Given the description of an element on the screen output the (x, y) to click on. 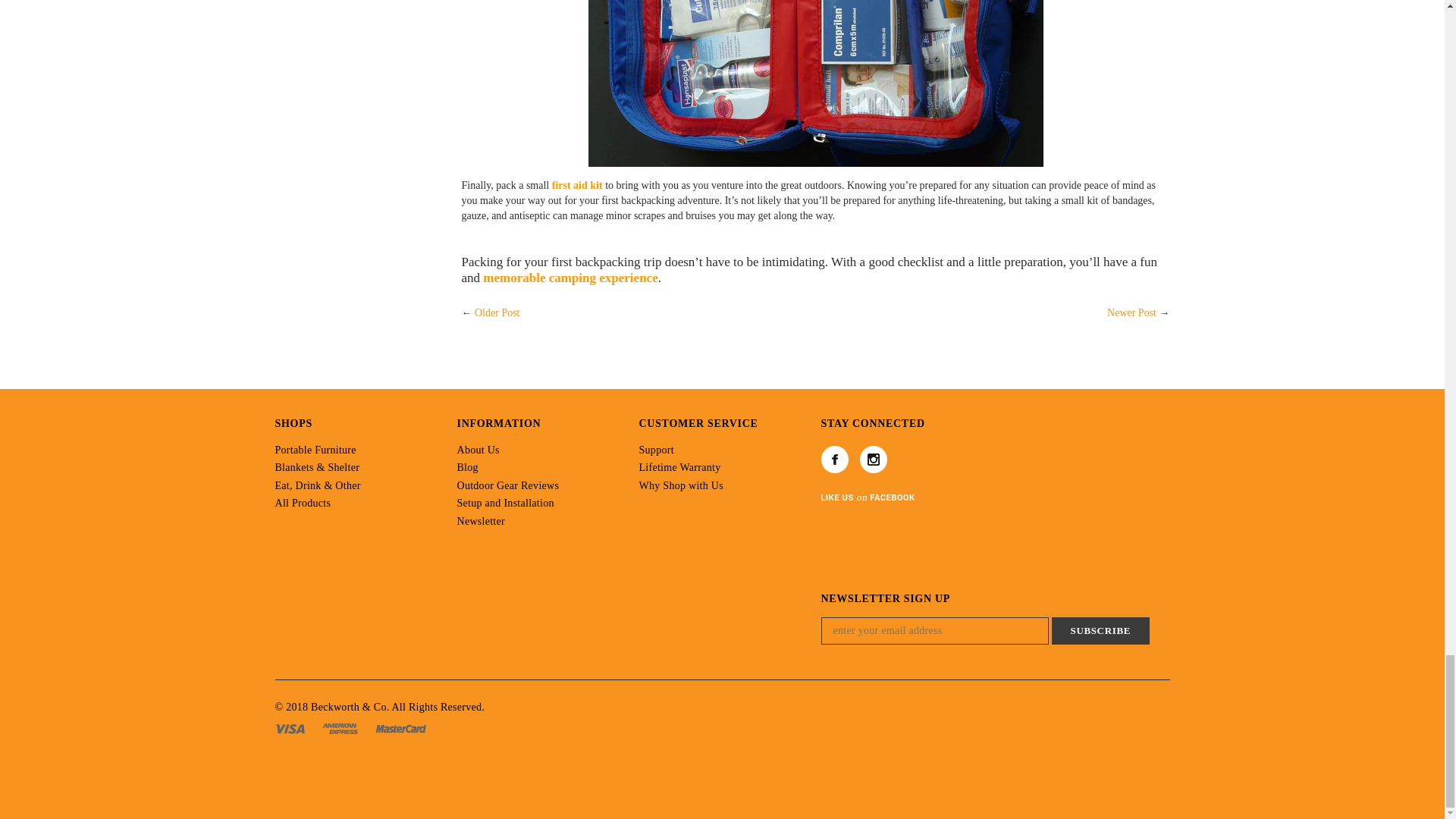
Instagram (873, 459)
Subscribe (1100, 630)
Facebook (834, 459)
American express (341, 727)
Visa (291, 727)
Mastercard (400, 727)
